Given the description of an element on the screen output the (x, y) to click on. 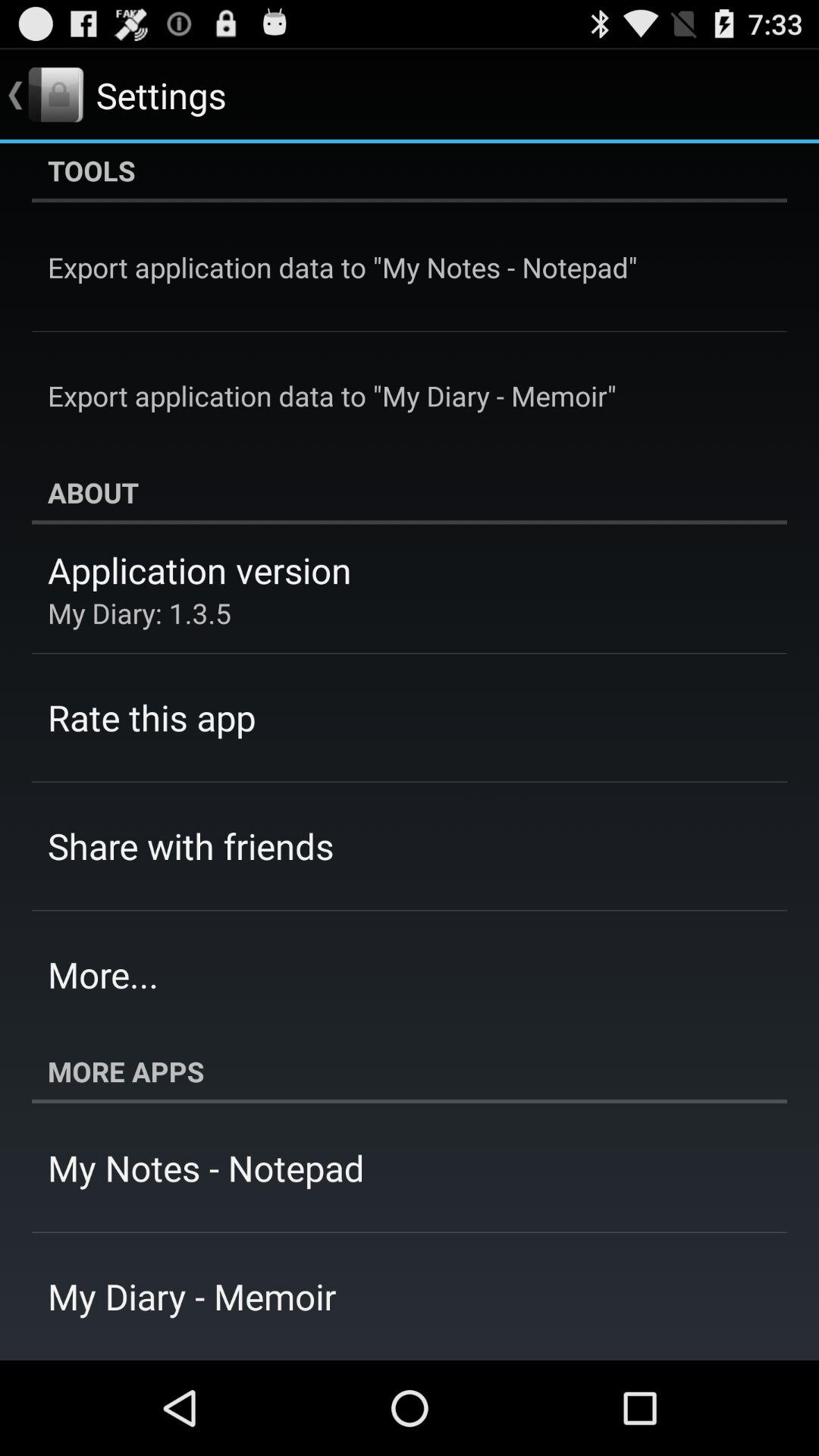
click item above more apps app (102, 974)
